Given the description of an element on the screen output the (x, y) to click on. 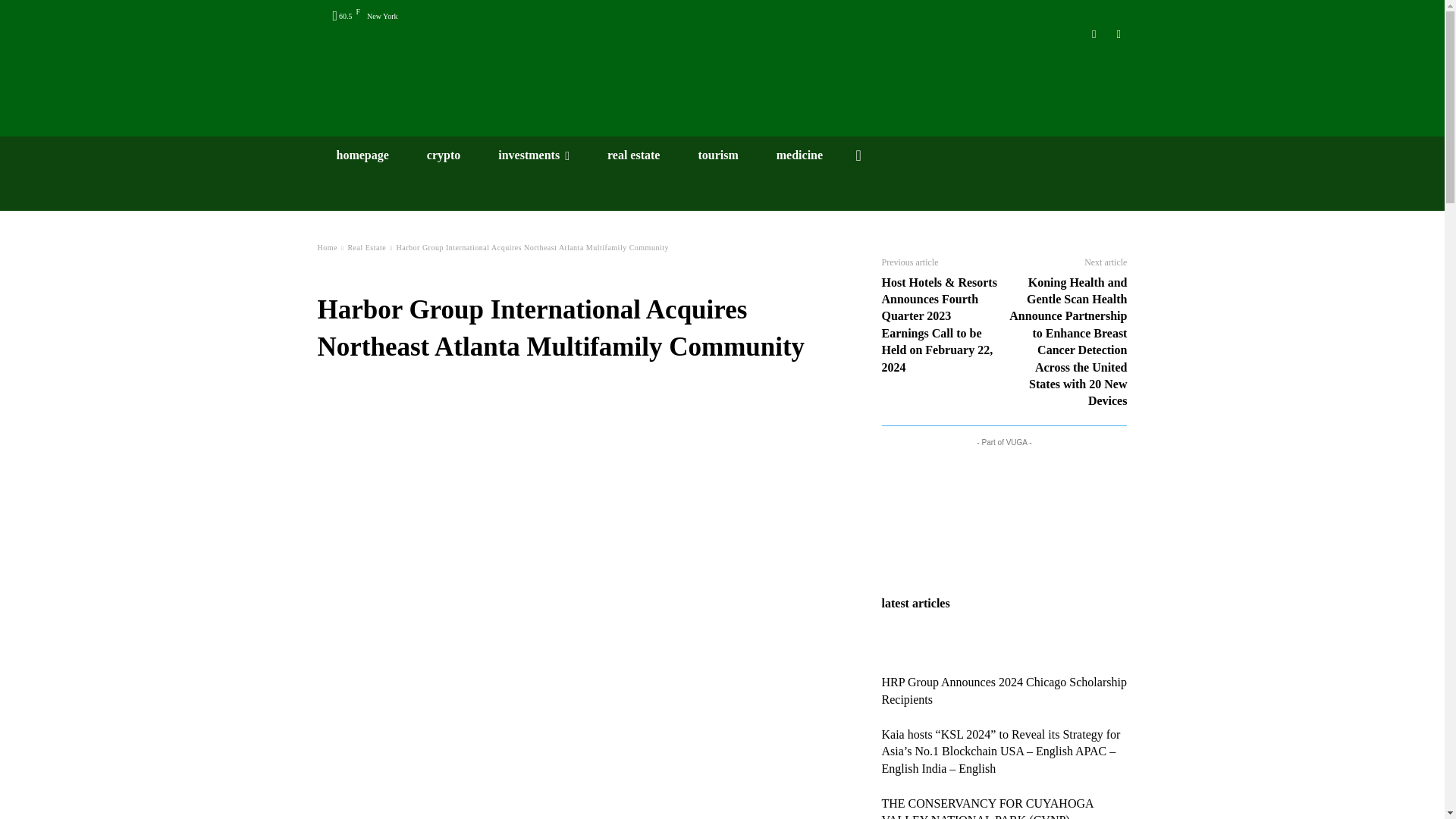
Toor News (721, 79)
Instagram (1094, 34)
Toor News (721, 79)
investments (533, 154)
crypto (443, 154)
real estate (633, 154)
homepage (362, 154)
Facebook (1117, 34)
tourism (717, 154)
medicine (799, 154)
